Given the description of an element on the screen output the (x, y) to click on. 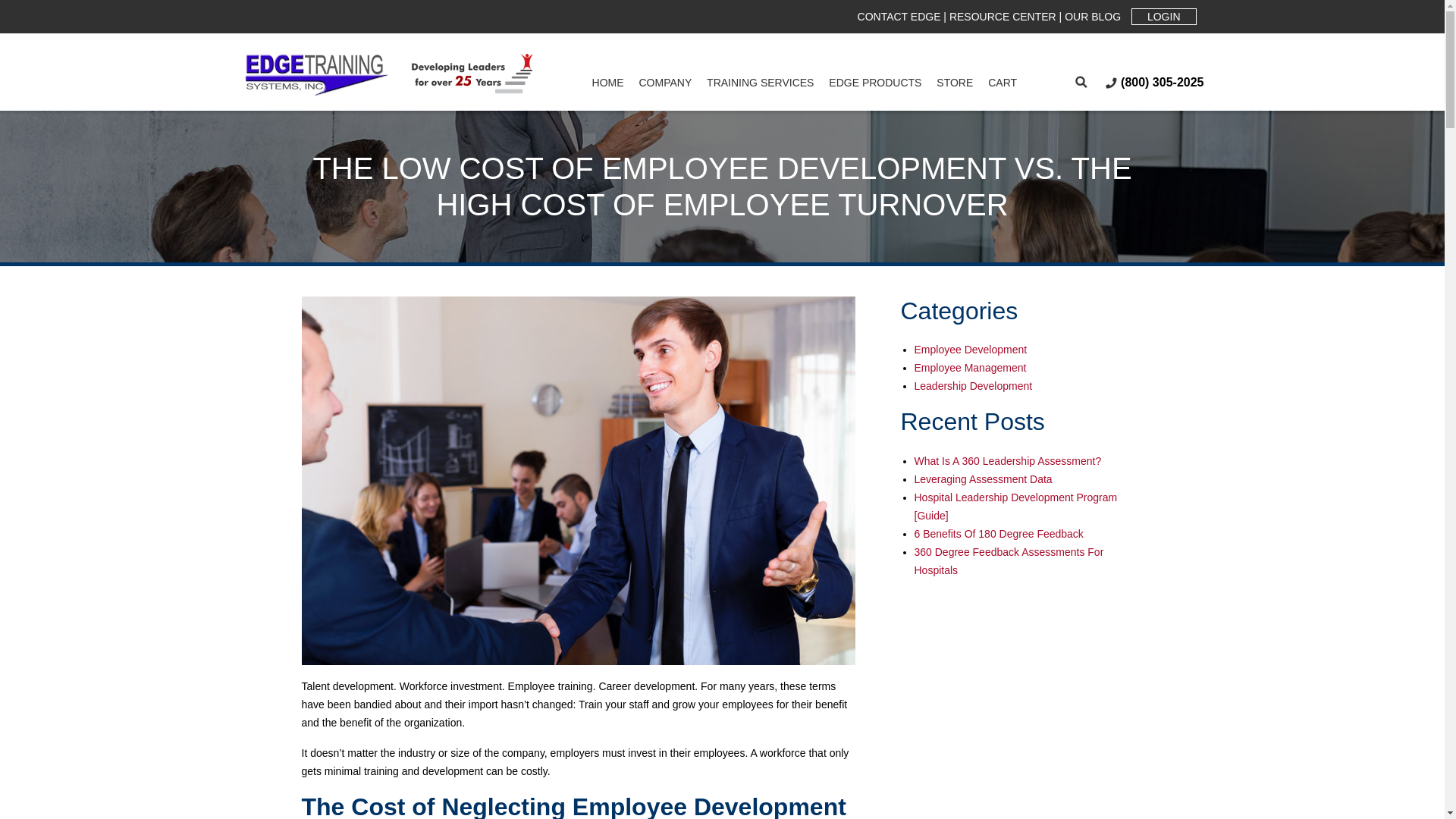
OUR BLOG (1092, 16)
LOGIN (1163, 16)
EDGE PRODUCTS (874, 84)
HOME (608, 84)
COMPANY (665, 84)
RESOURCE CENTER (1003, 16)
TRAINING SERVICES (759, 84)
CONTACT EDGE (898, 16)
